Given the description of an element on the screen output the (x, y) to click on. 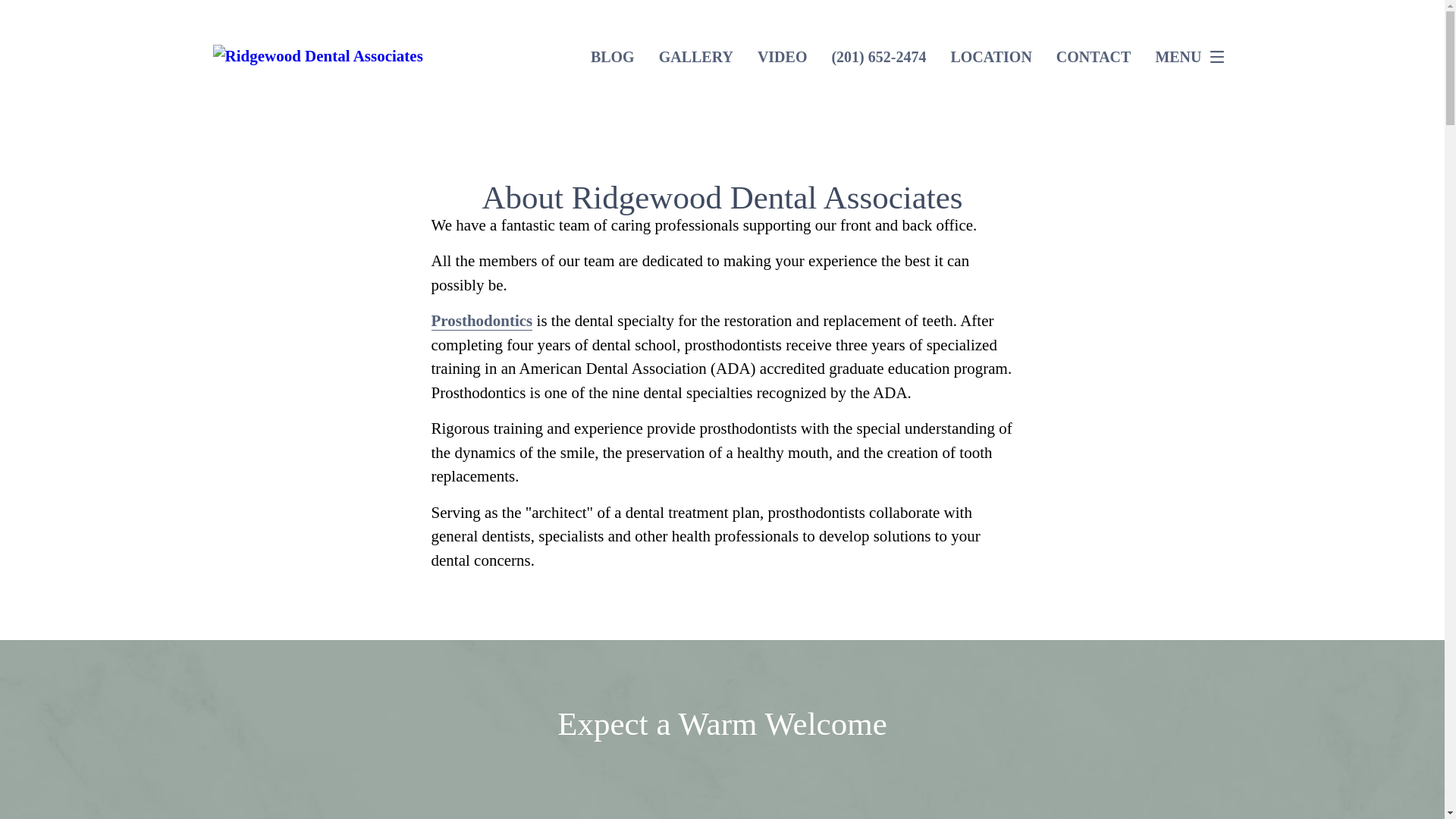
GALLERY (696, 56)
VIDEO (782, 56)
BLOG (612, 56)
LOCATION (990, 56)
Prosthodontics (481, 321)
CONTACT (1094, 56)
MENU (1192, 56)
